Given the description of an element on the screen output the (x, y) to click on. 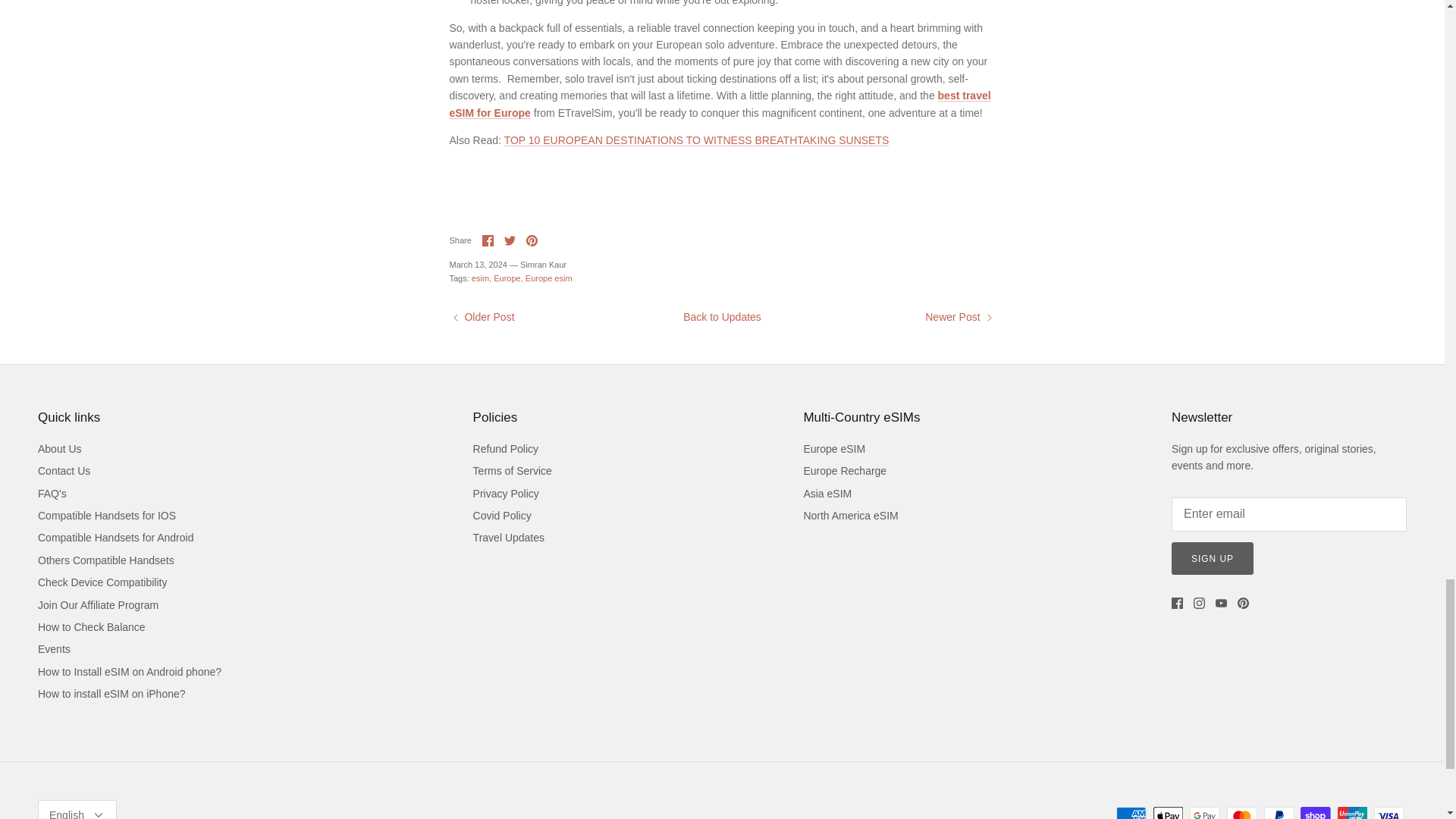
Show articles tagged esim (481, 277)
Show articles tagged Europe esim (548, 277)
Show articles tagged Europe (507, 277)
